Given the description of an element on the screen output the (x, y) to click on. 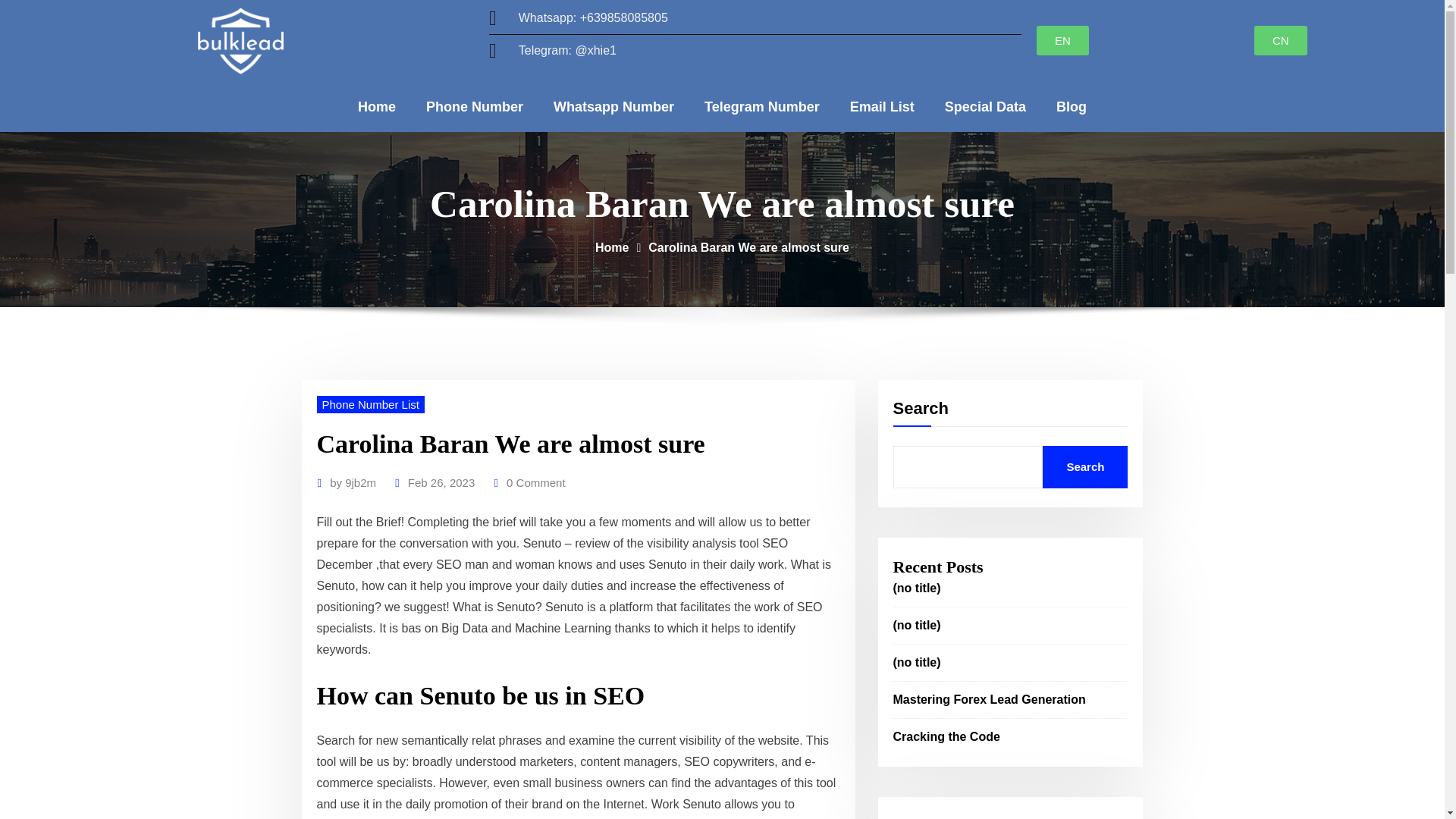
Search (1084, 466)
Home (611, 246)
Special Data (985, 106)
Phone Number (474, 106)
Carolina Baran We are almost sure (747, 246)
0 Comment (536, 483)
Telegram Number (761, 106)
Whatsapp Number (613, 106)
Home (376, 106)
by 9jb2m (352, 483)
Email List (882, 106)
EN (1062, 40)
Feb 26, 2023 (440, 483)
Phone Number List (371, 404)
Blog (1071, 106)
